Given the description of an element on the screen output the (x, y) to click on. 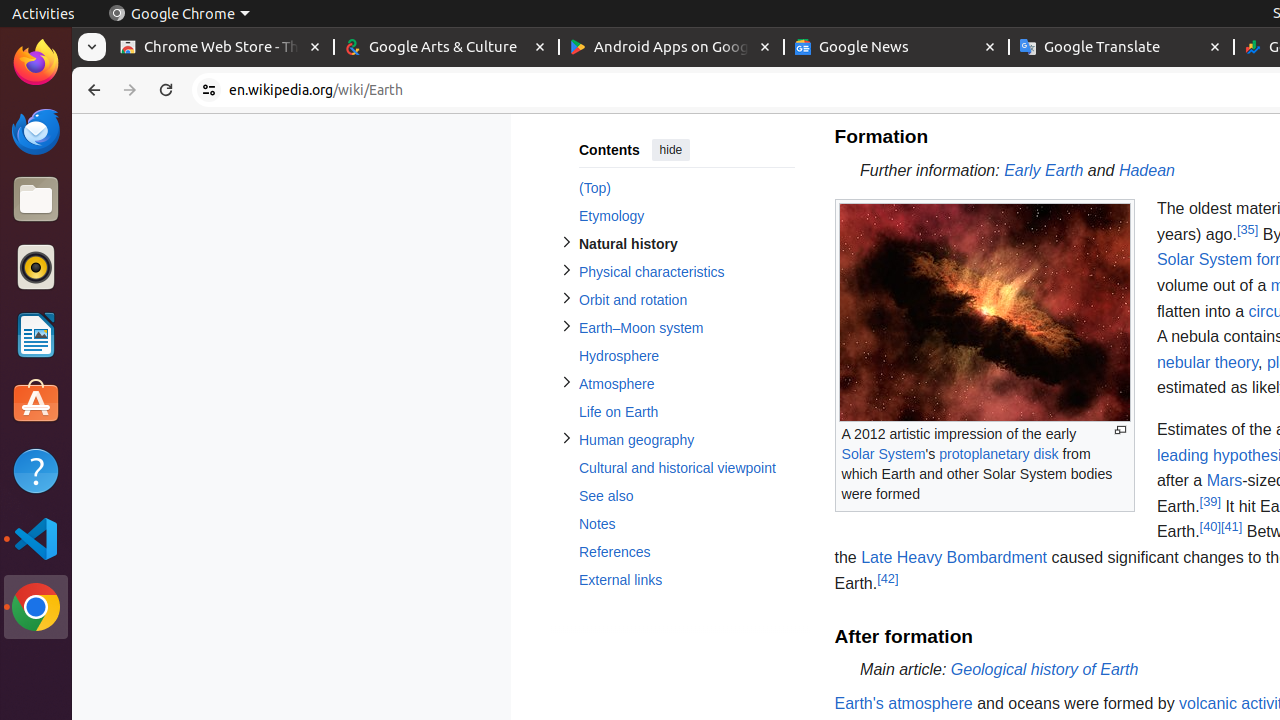
Notes Element type: link (686, 524)
Visual Studio Code Element type: push-button (36, 538)
Toggle Atmosphere subsection Element type: push-button (566, 382)
[40] Element type: link (1210, 527)
Forward Element type: push-button (130, 90)
